Given the description of an element on the screen output the (x, y) to click on. 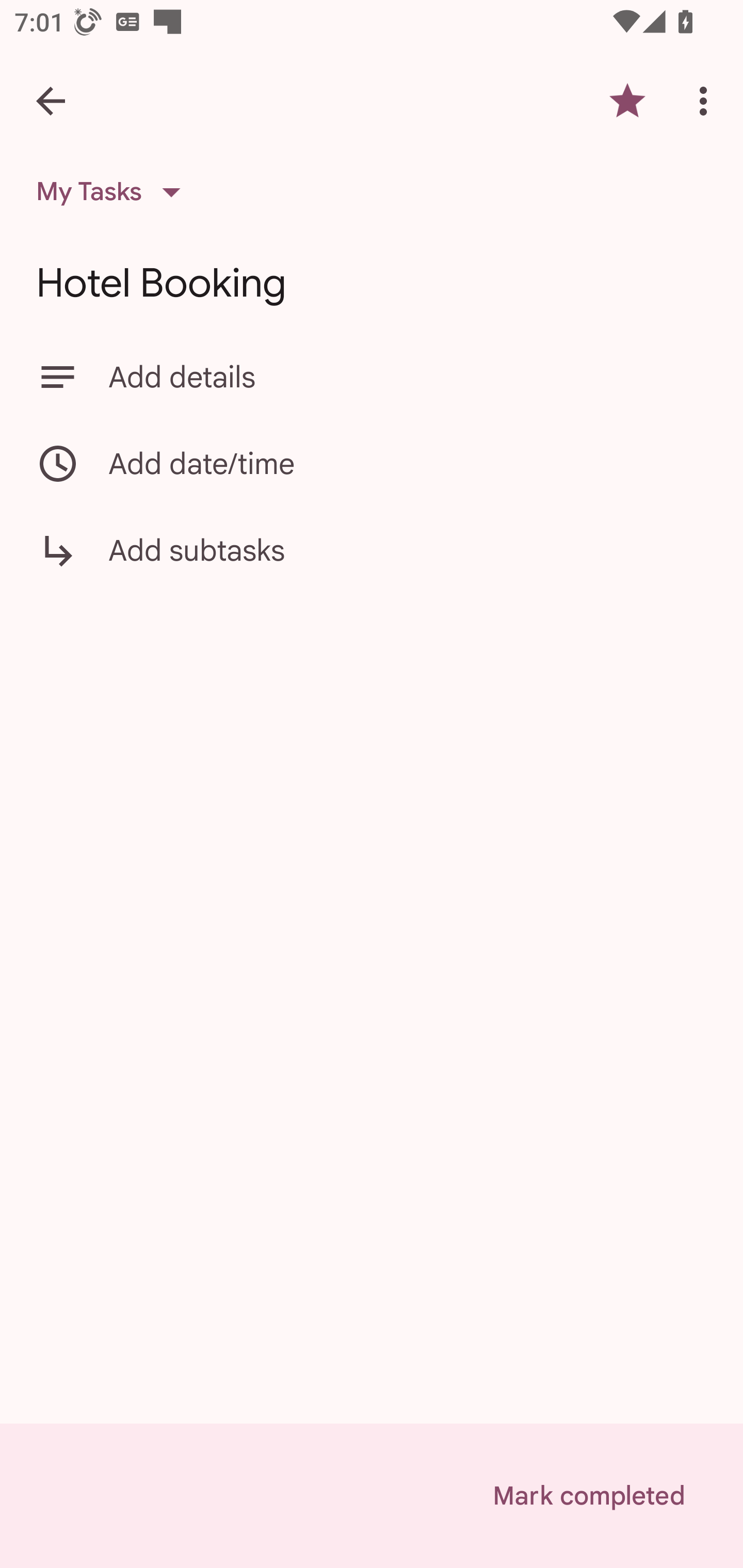
Back (50, 101)
Remove star (626, 101)
More options (706, 101)
My Tasks List, My Tasks selected, 1 of 6 (114, 191)
Hotel Booking (371, 283)
Add details (371, 376)
Add details (407, 376)
Add date/time (371, 463)
Add subtasks (371, 564)
Mark completed (588, 1495)
